Given the description of an element on the screen output the (x, y) to click on. 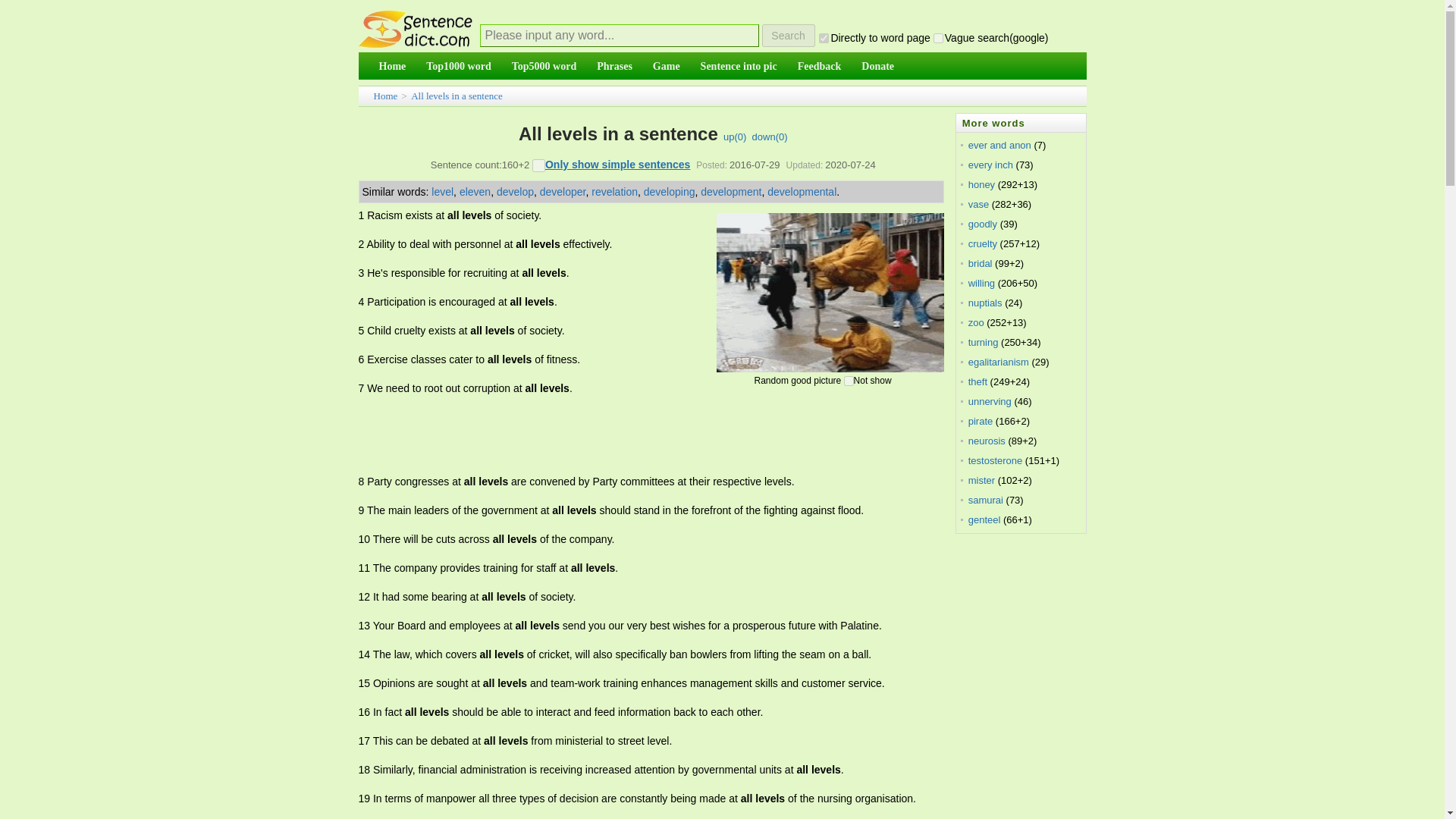
develop (515, 191)
All levels in a sentence (456, 95)
eleven (475, 191)
development (730, 191)
developing (669, 191)
Top1000 word (458, 67)
revelation (614, 191)
Phrases (614, 67)
Search (787, 35)
level (441, 191)
developmental (801, 191)
Sentence into pic (738, 67)
Top5000 word (543, 67)
Only show simple sentences (617, 164)
Home (391, 67)
